Given the description of an element on the screen output the (x, y) to click on. 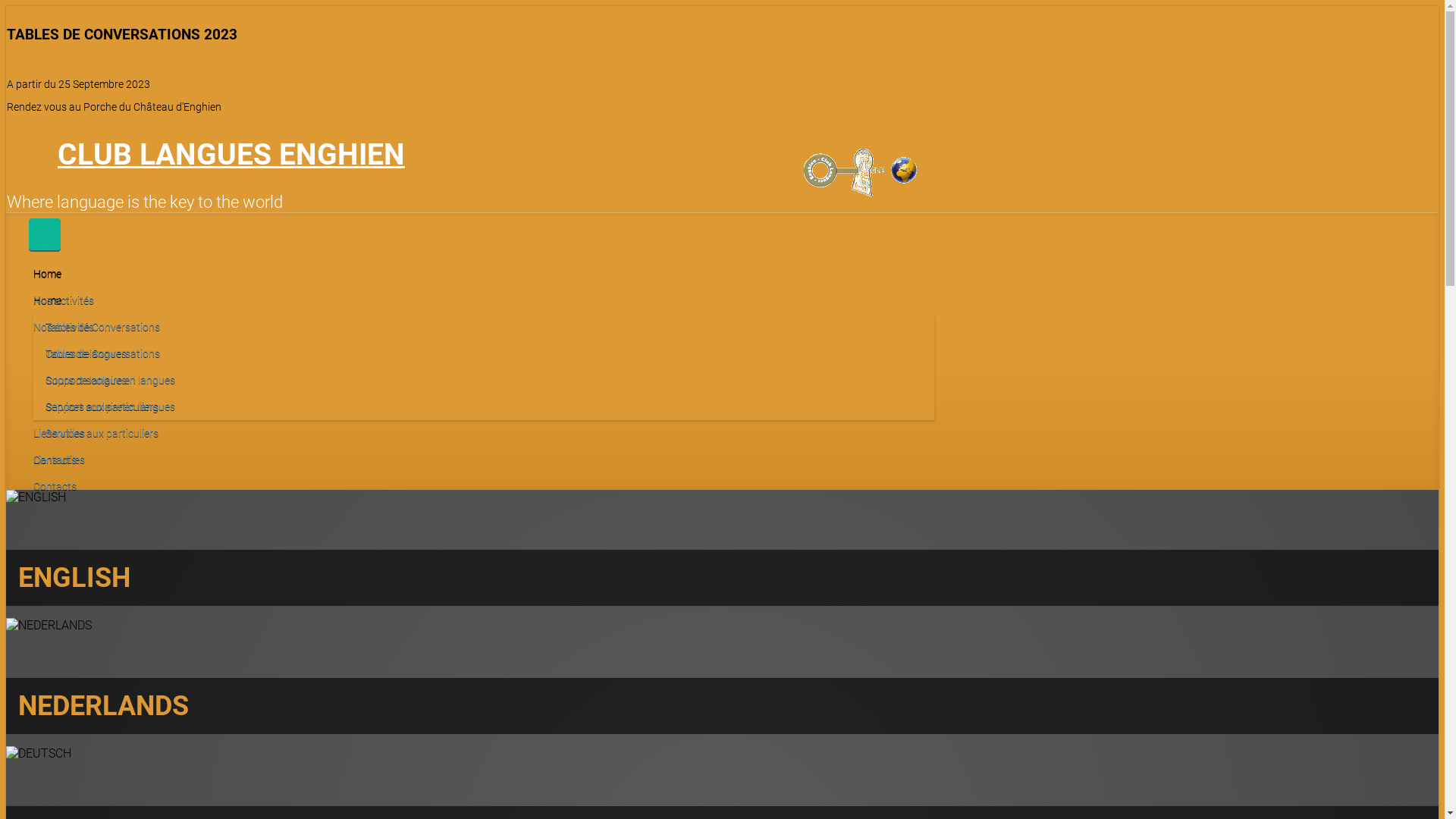
Skip to main content Element type: text (24, 15)
Home Element type: text (47, 273)
Liens utiles Element type: text (58, 432)
Facebook Element type: hover (45, 150)
Support scolaire en langues Element type: text (110, 378)
Contacts Element type: text (54, 459)
Tables de Conversations Element type: text (102, 325)
Cours de langues Element type: text (85, 352)
Flux RSS Element type: hover (20, 150)
CLUB LANGUES ENGHIEN Element type: text (230, 154)
Services aux particuliers Element type: text (101, 405)
